Given the description of an element on the screen output the (x, y) to click on. 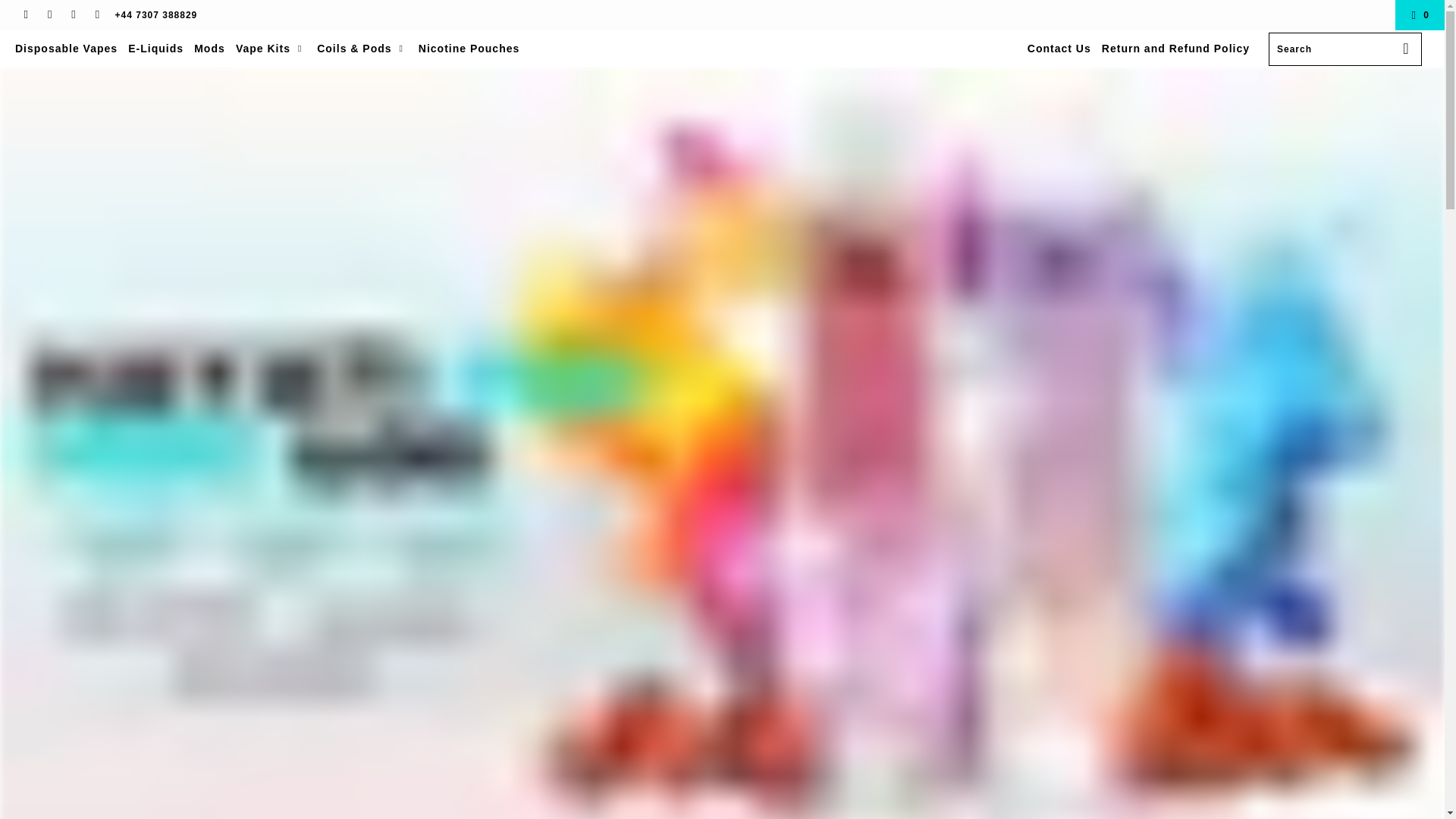
Return and Refund Policy (1175, 48)
Disposable Vapes (65, 48)
Vape At Door on Pinterest (73, 14)
Nicotine Pouches (469, 48)
Contact Us (1058, 48)
E-Liquids (155, 48)
Vape At Door on Facebook (48, 14)
Vape Kits (270, 48)
Vape At Door on Instagram (96, 14)
Vape At Door on Twitter (25, 14)
